Given the description of an element on the screen output the (x, y) to click on. 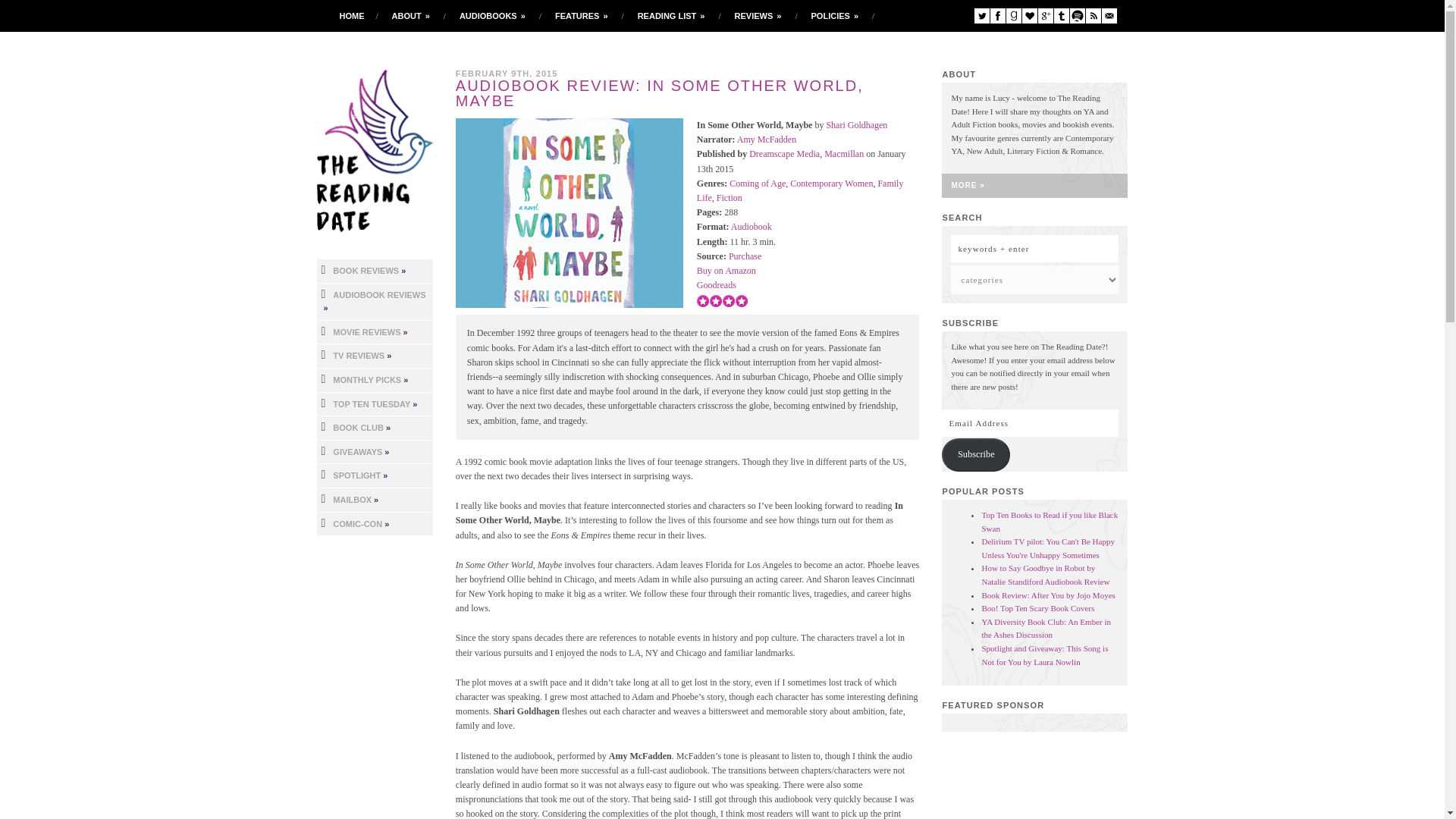
Twitter (981, 15)
Search the blog (1034, 248)
Bloglovin' (1029, 15)
Facebook (998, 15)
RSS (1093, 15)
Spotify (1076, 15)
Tumblr (1061, 15)
Google Plus (1044, 15)
Email Me (1108, 15)
Goodreads (1013, 15)
Audiobook Review: In Some Other World, Maybe (568, 212)
HOME (351, 15)
